Given the description of an element on the screen output the (x, y) to click on. 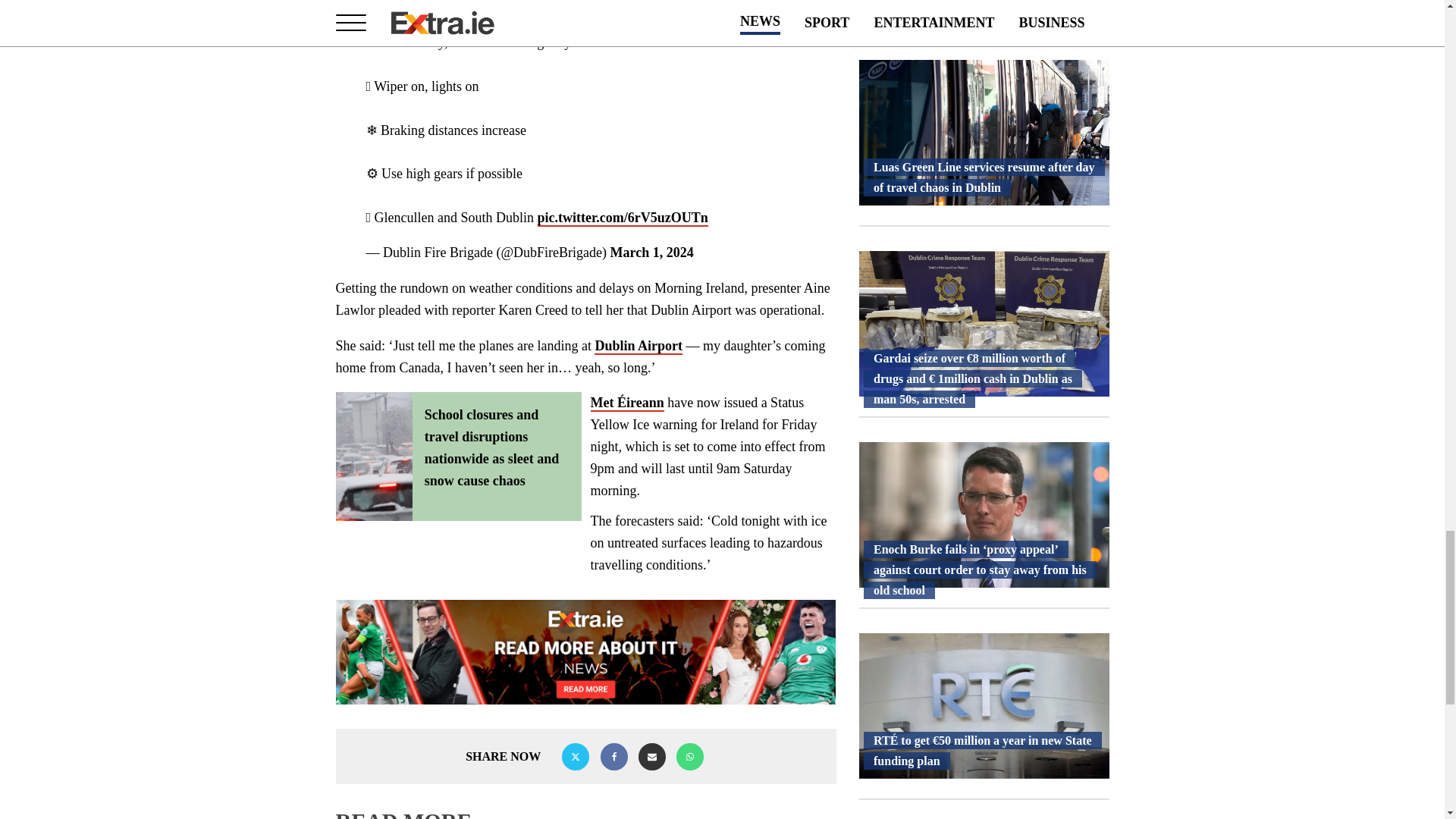
Dublin Airport (638, 346)
March 1, 2024 (652, 252)
